Given the description of an element on the screen output the (x, y) to click on. 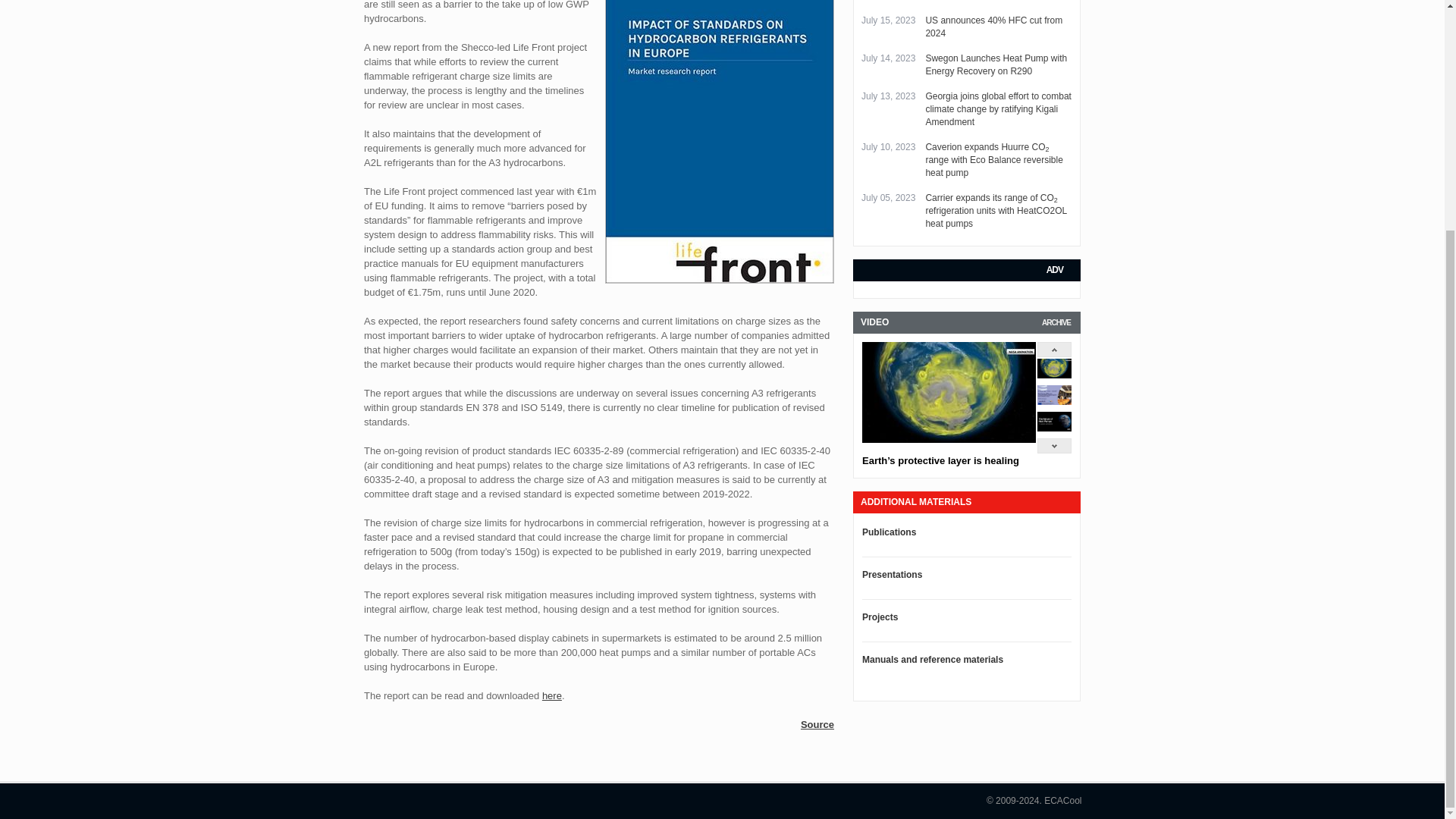
The future of heat pumps (1053, 428)
